Given the description of an element on the screen output the (x, y) to click on. 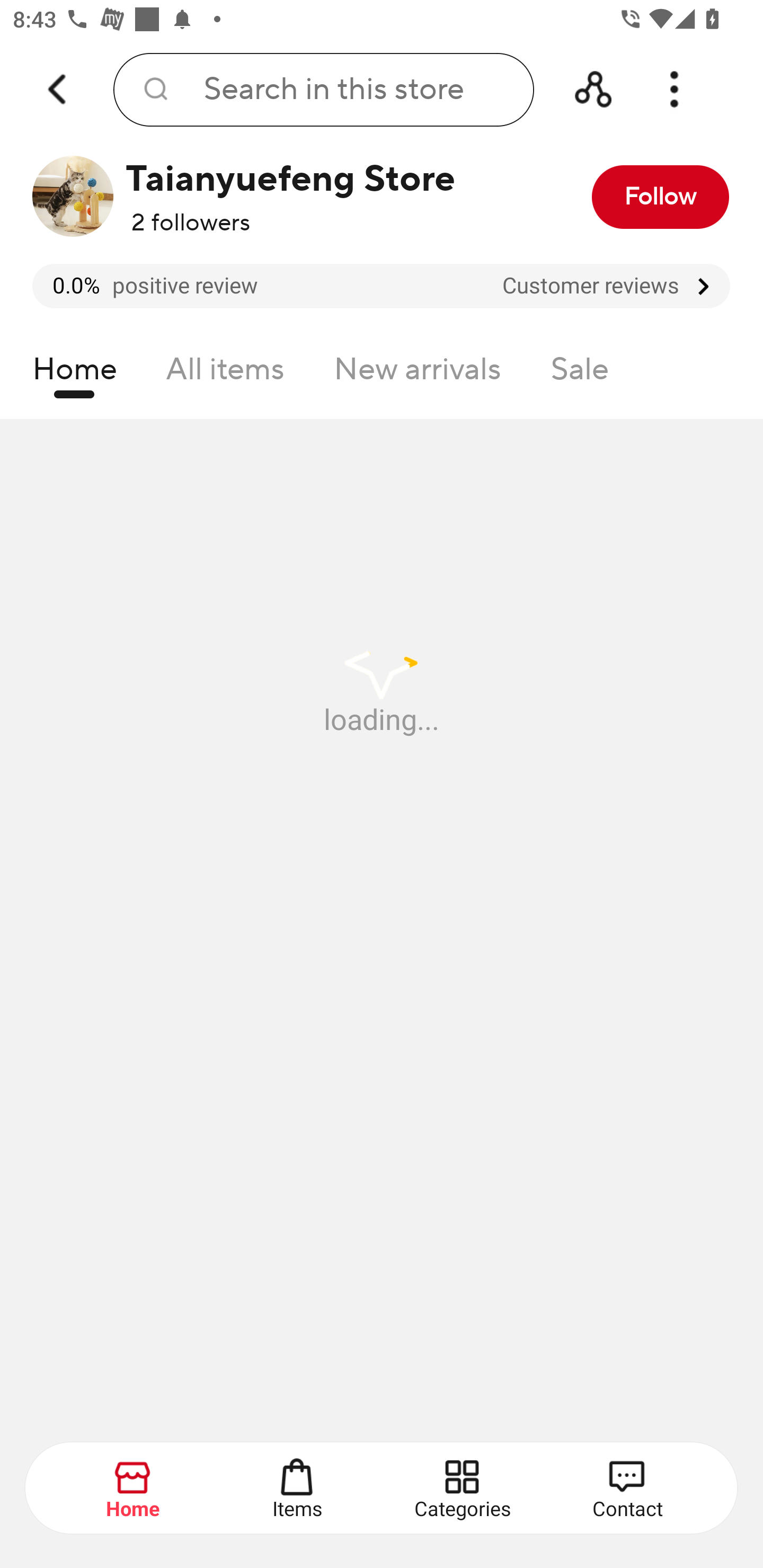
Search in this store (323, 90)
Taianyuefeng Store  2 followers (272, 196)
Follow (660, 196)
0.0% positive review Customer reviews (381, 285)
Home (74, 373)
All items (225, 373)
New arrivals
 (418, 373)
Sale (579, 373)
Home (133, 1488)
Items (297, 1488)
Categories (462, 1488)
Contact (627, 1488)
